Given the description of an element on the screen output the (x, y) to click on. 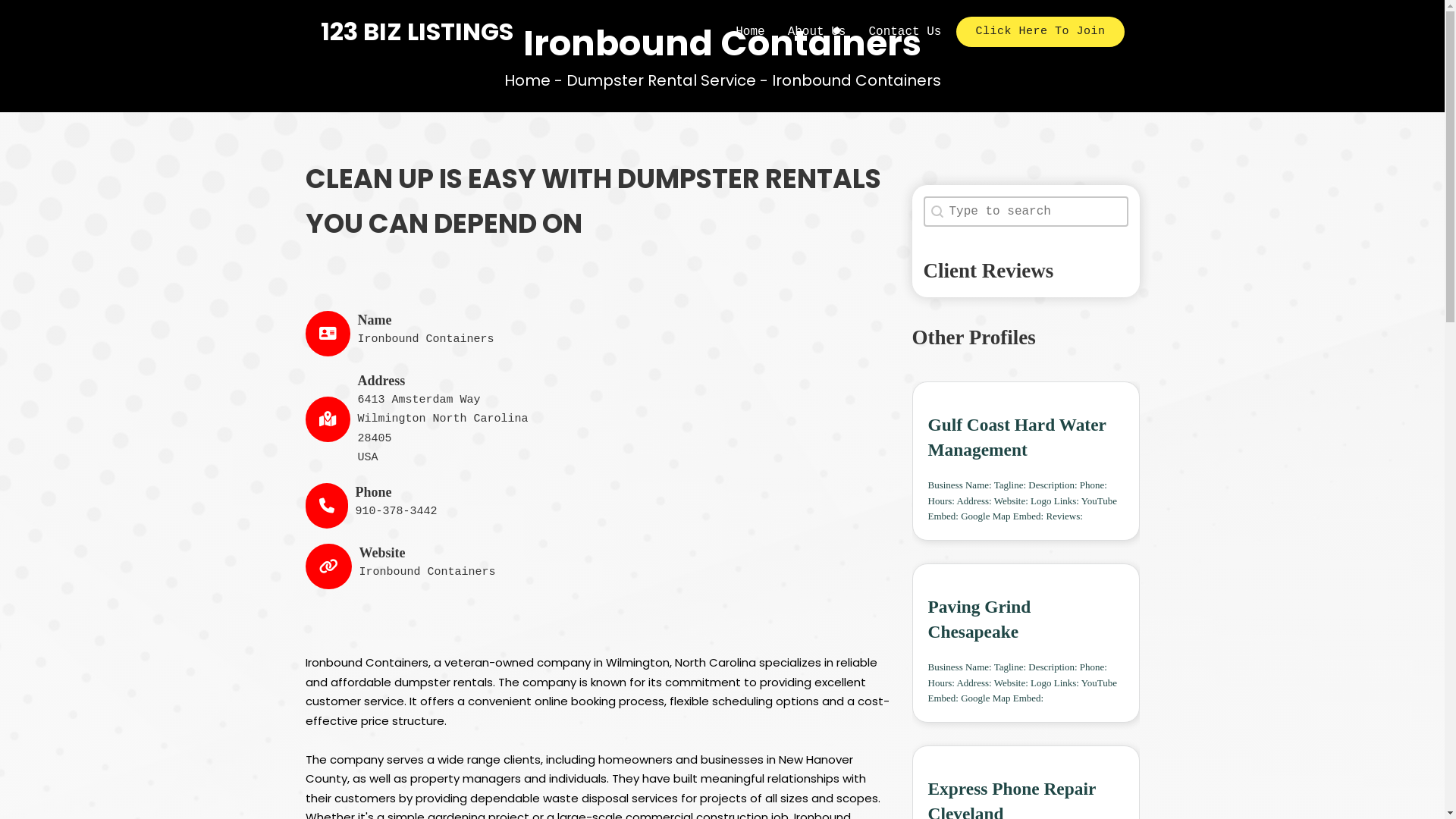
Paving Grind Chesapeake Element type: text (979, 618)
About Us Element type: text (816, 31)
Home Element type: text (749, 31)
Gulf Coast Hard Water Management Element type: text (1017, 436)
123 BIZ LISTINGS Element type: text (416, 31)
Ironbound Containers Element type: text (427, 571)
Dumpster Rental Service Element type: text (660, 80)
Contact Us Element type: text (904, 31)
Home Element type: text (526, 80)
